Given the description of an element on the screen output the (x, y) to click on. 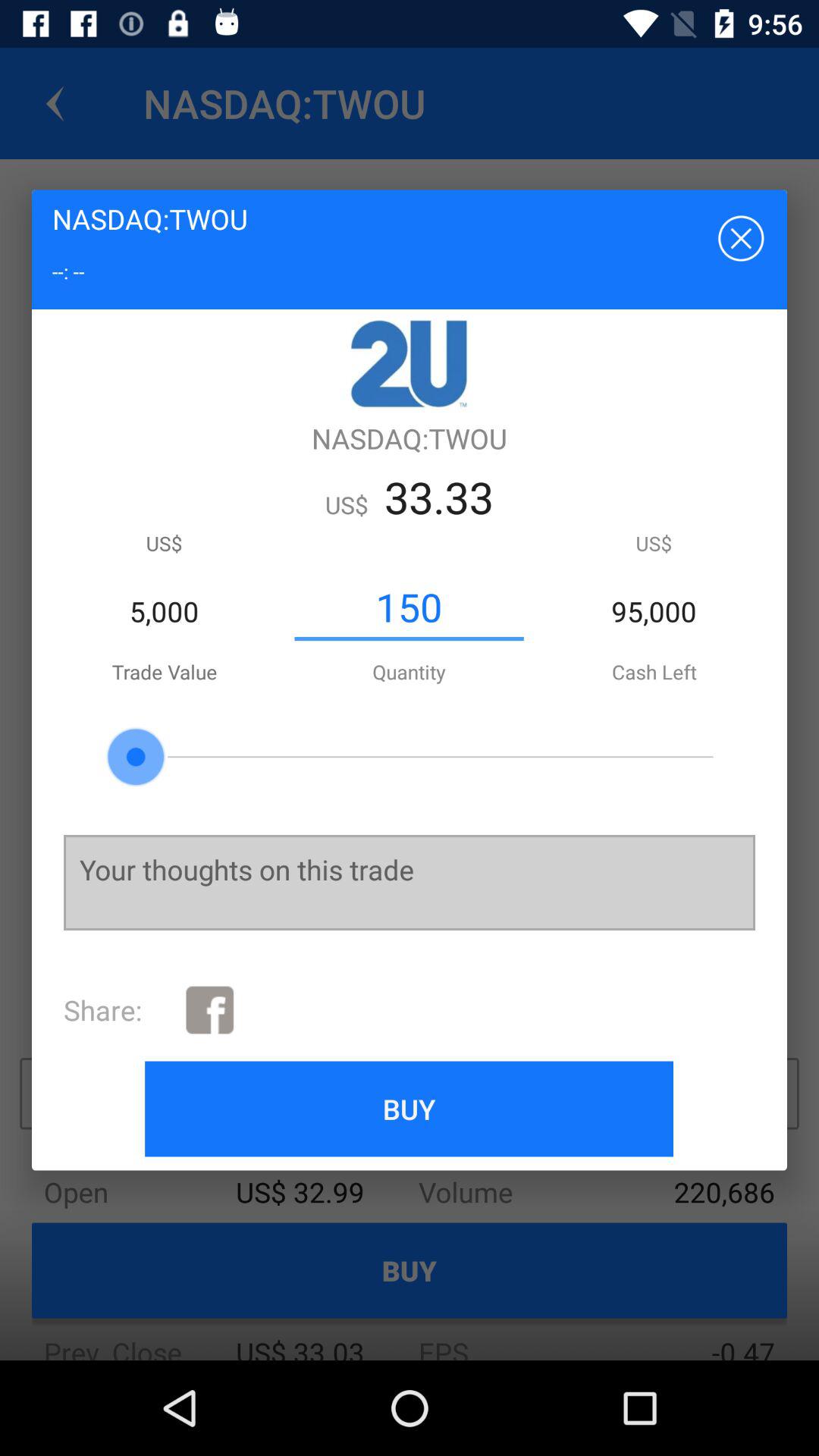
choose the icon to the right of us$ item (408, 607)
